Given the description of an element on the screen output the (x, y) to click on. 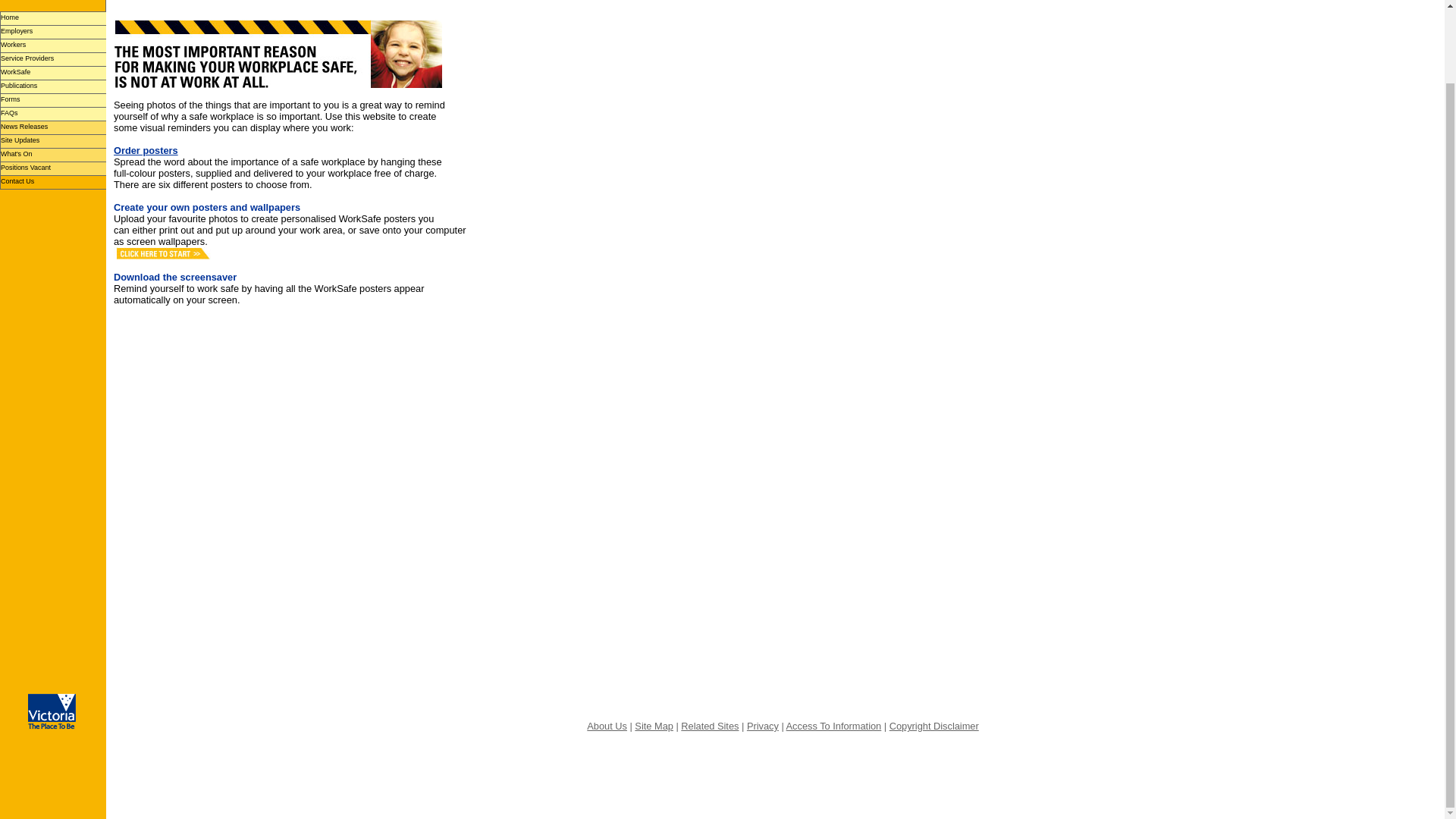
About Us (606, 726)
Site Updates (53, 141)
Site Map (653, 726)
What's On (53, 154)
Access To Information (834, 726)
News Releases (53, 127)
WorkSafe (53, 72)
Workers (53, 45)
FAQs (53, 113)
Positions Vacant (53, 168)
Employers (53, 31)
Related Sites (709, 726)
Contact Us (53, 182)
Forms (53, 100)
Create your own posters and wallpapers (206, 206)
